Given the description of an element on the screen output the (x, y) to click on. 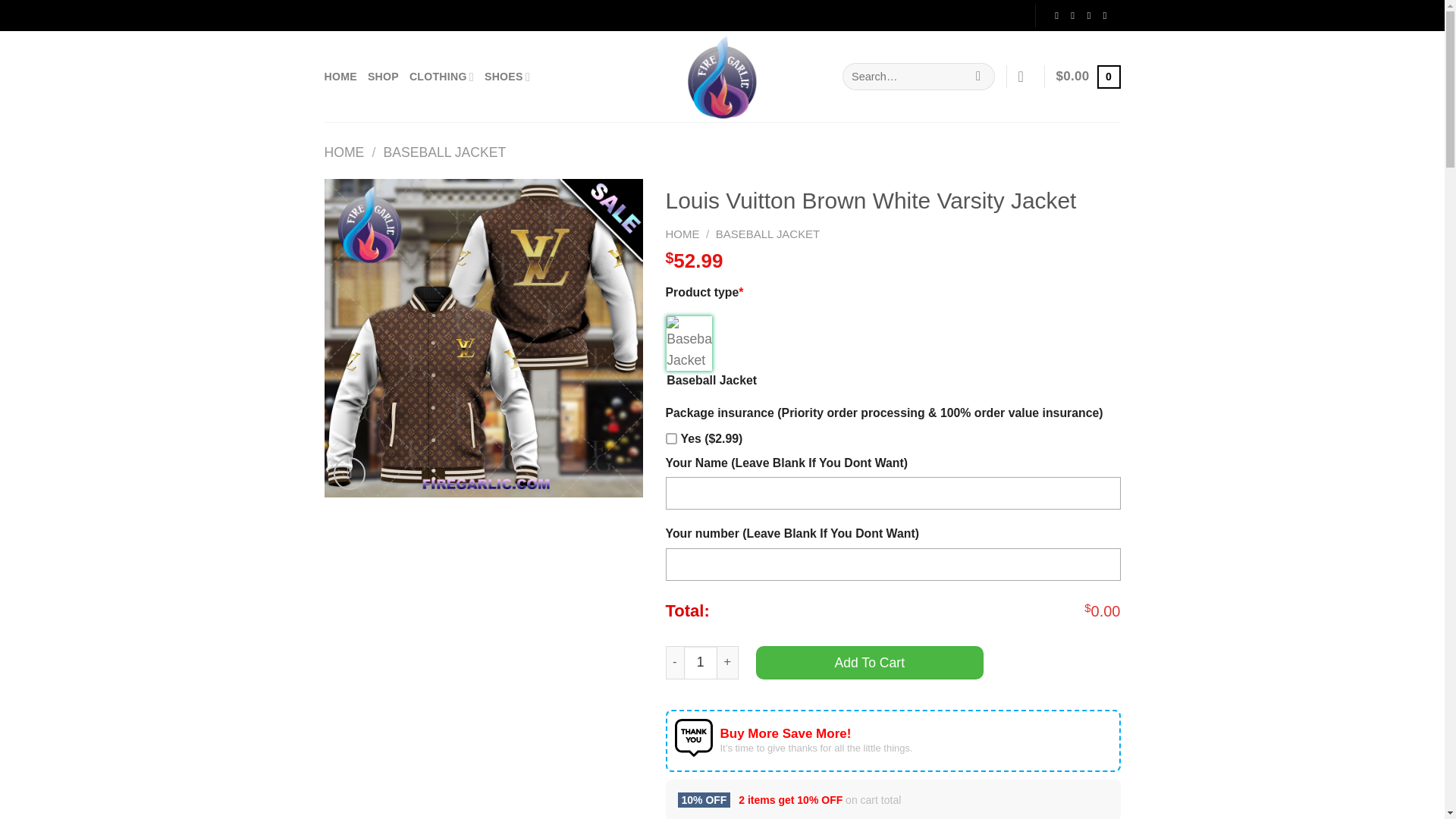
CLOTHING (441, 76)
BASEBALL JACKET (443, 151)
Follow on Instagram (1072, 15)
SHOES (506, 76)
- (674, 662)
Follow on Pinterest (1104, 15)
Louis Vuitton Brown White Varsity Jacket 1 (483, 338)
BASEBALL JACKET (767, 233)
Search (977, 76)
Follow on Twitter (1088, 15)
Cart (1089, 76)
Follow on Facebook (1056, 15)
Zoom (349, 473)
HOME (344, 151)
HOME (682, 233)
